Given the description of an element on the screen output the (x, y) to click on. 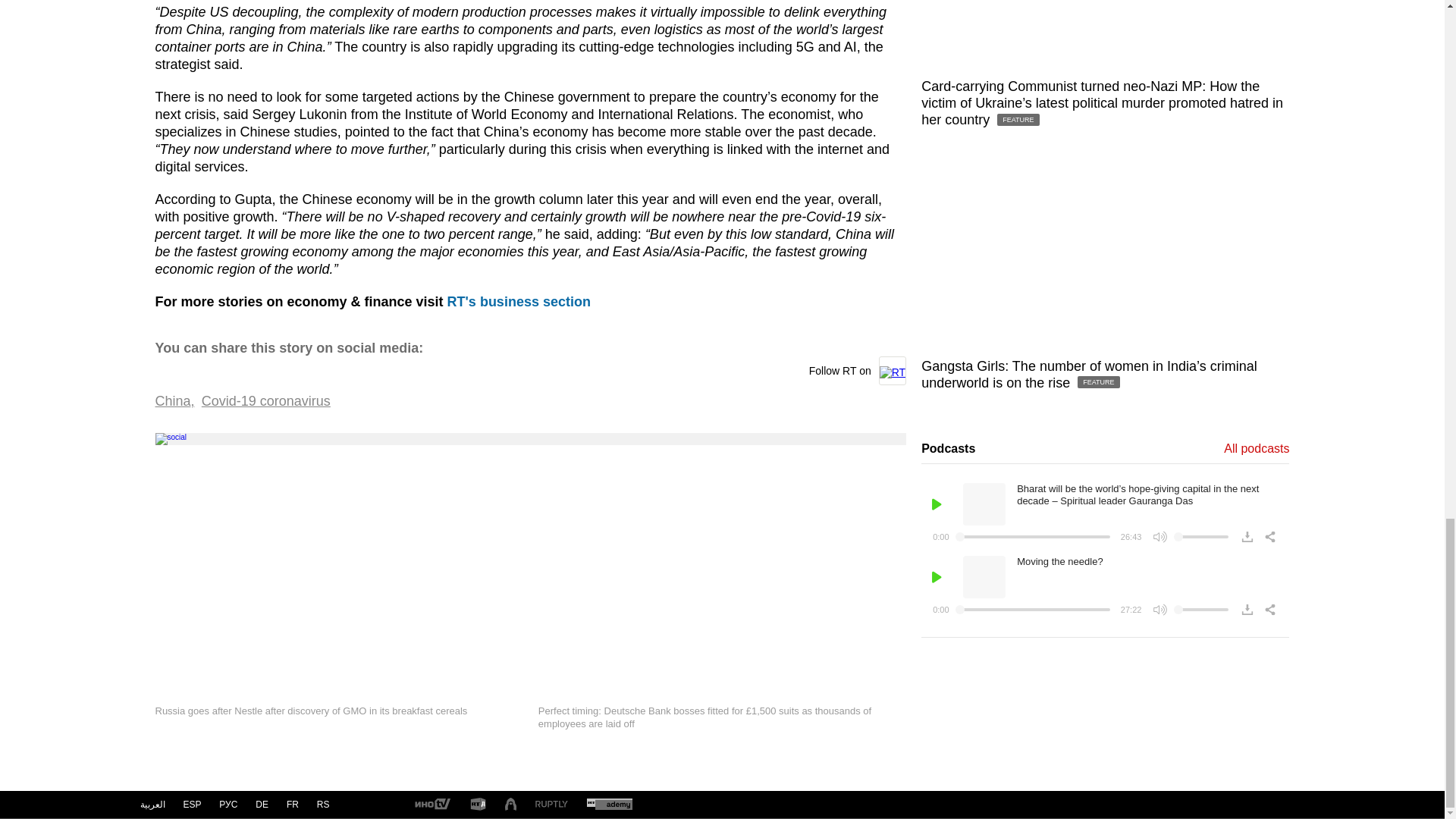
RT  (431, 804)
RT  (478, 804)
RT  (551, 804)
RT  (608, 804)
